Given the description of an element on the screen output the (x, y) to click on. 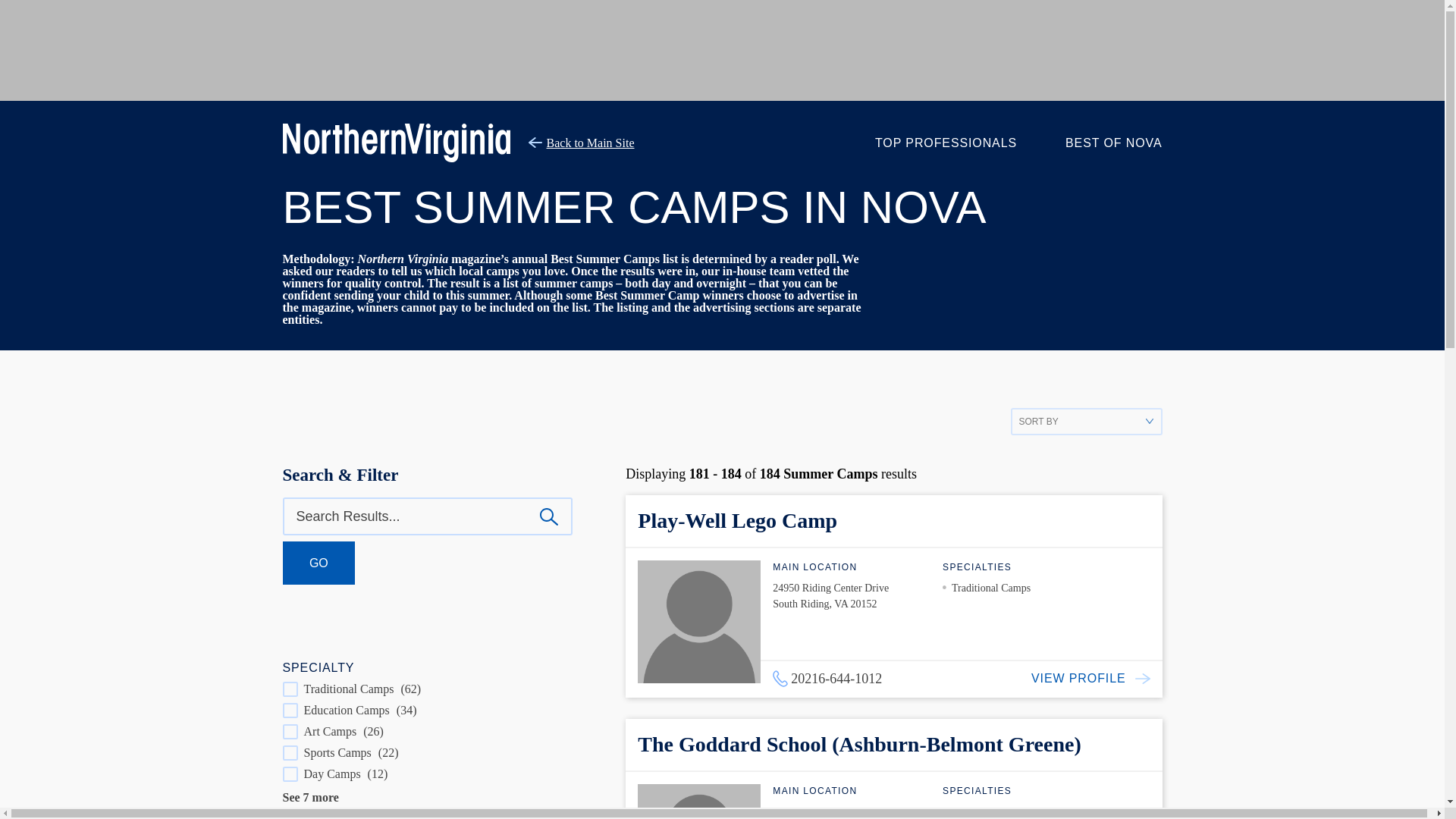
TOP PROFESSIONALS (945, 142)
VIEW PROFILE (1095, 678)
Play-Well Lego Camp (737, 520)
Reset (34, 11)
See 7 more (309, 797)
Back to Main Site (581, 142)
Go (318, 562)
20216-644-1012 (827, 678)
Northern Virginia Magazine (395, 142)
BEST OF NOVA (1113, 142)
3rd party ad content (721, 50)
